Given the description of an element on the screen output the (x, y) to click on. 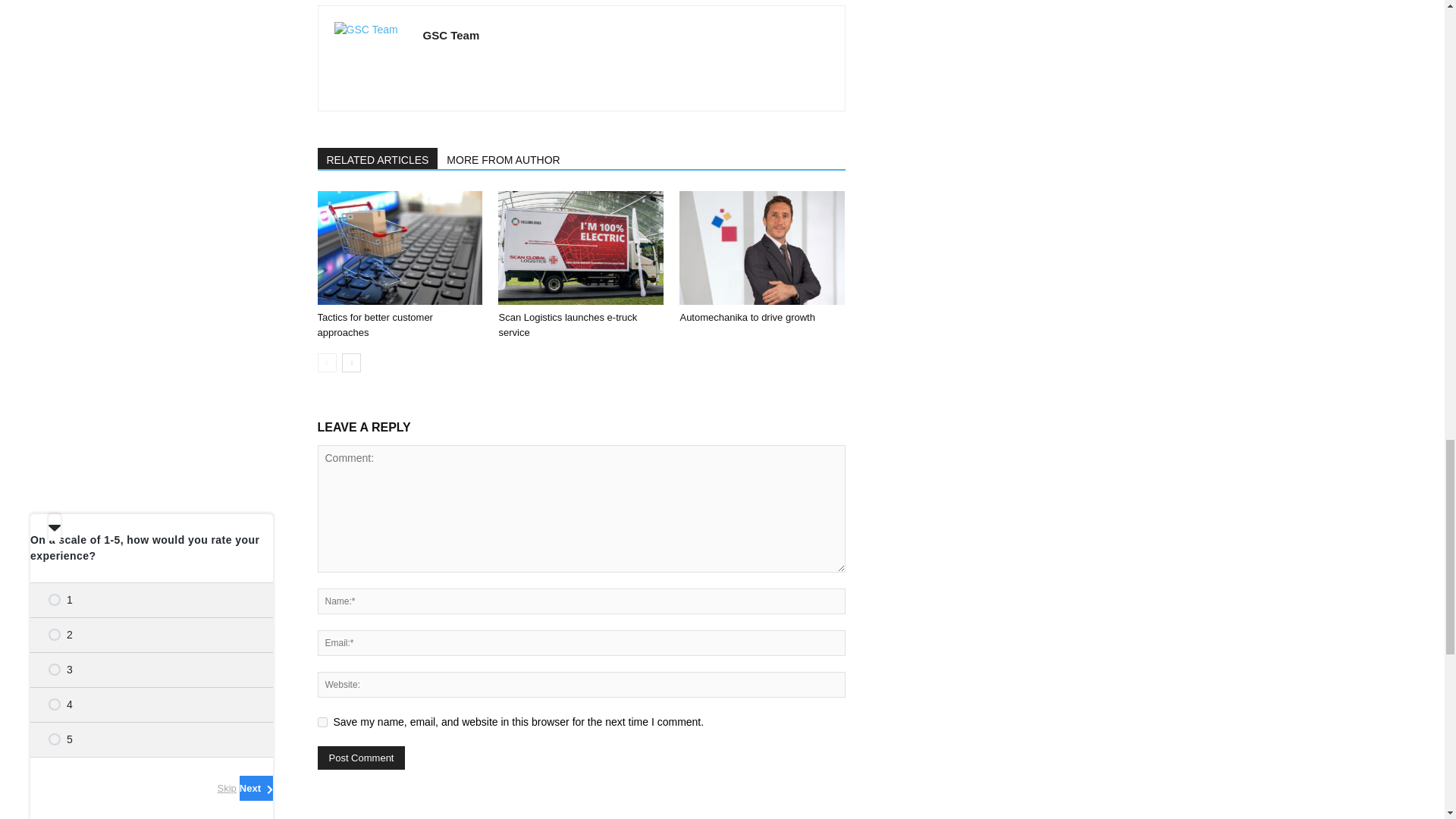
yes (321, 722)
Post Comment (360, 757)
